Given the description of an element on the screen output the (x, y) to click on. 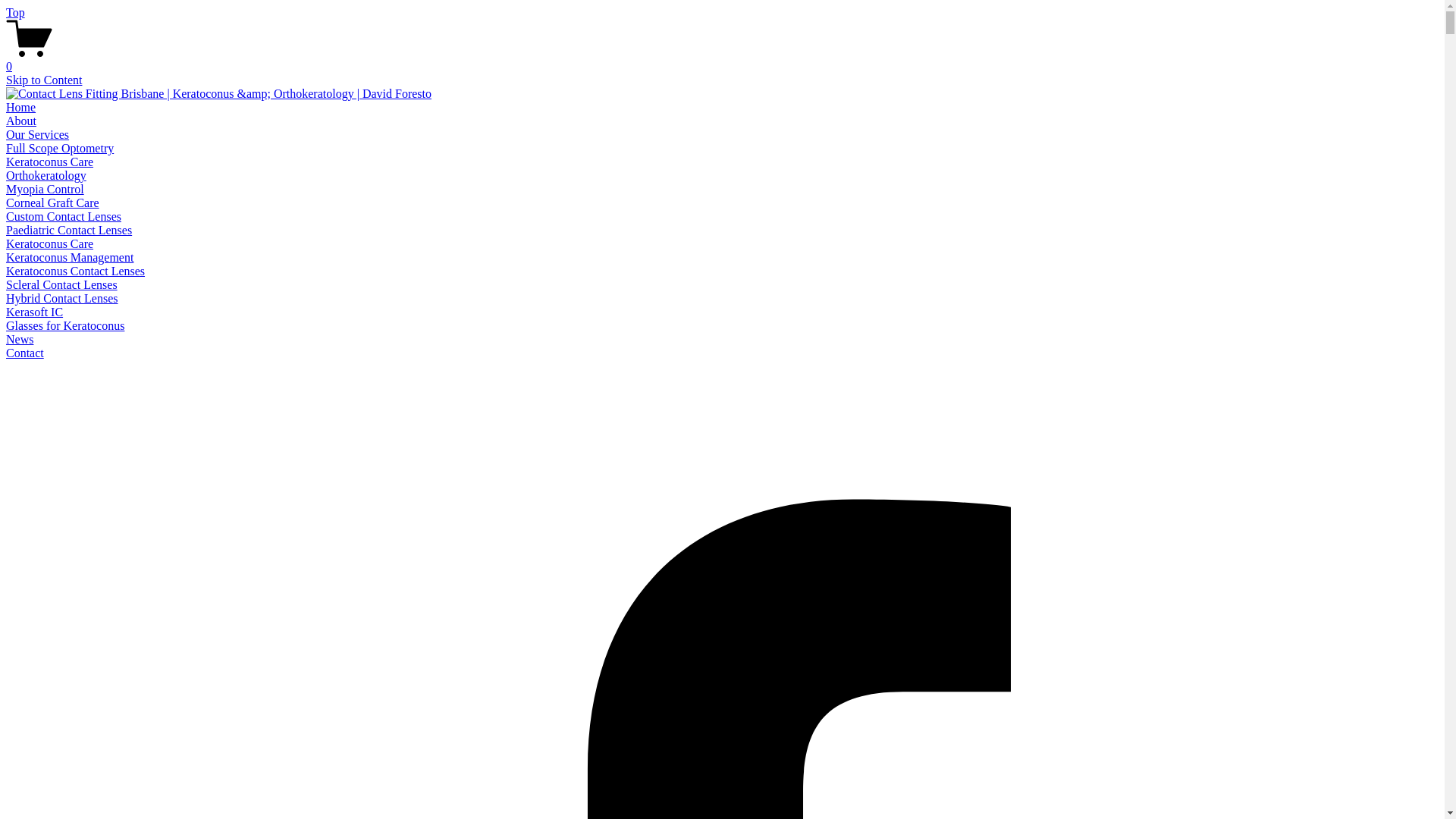
News Element type: text (19, 338)
Custom Contact Lenses Element type: text (63, 216)
Skip to Content Element type: text (43, 79)
Keratoconus Management Element type: text (69, 257)
Contact Element type: text (24, 352)
Paediatric Contact Lenses Element type: text (68, 229)
Kerasoft IC Element type: text (34, 311)
Myopia Control Element type: text (45, 188)
Glasses for Keratoconus Element type: text (65, 325)
Top Element type: text (15, 12)
Our Services Element type: text (37, 134)
Hybrid Contact Lenses Element type: text (62, 297)
About Element type: text (21, 120)
Orthokeratology Element type: text (46, 175)
0 Element type: text (722, 59)
Keratoconus Care Element type: text (49, 161)
Corneal Graft Care Element type: text (52, 202)
Full Scope Optometry Element type: text (59, 147)
Home Element type: text (20, 106)
Keratoconus Contact Lenses Element type: text (75, 270)
Keratoconus Care Element type: text (49, 243)
Scleral Contact Lenses Element type: text (61, 284)
